Given the description of an element on the screen output the (x, y) to click on. 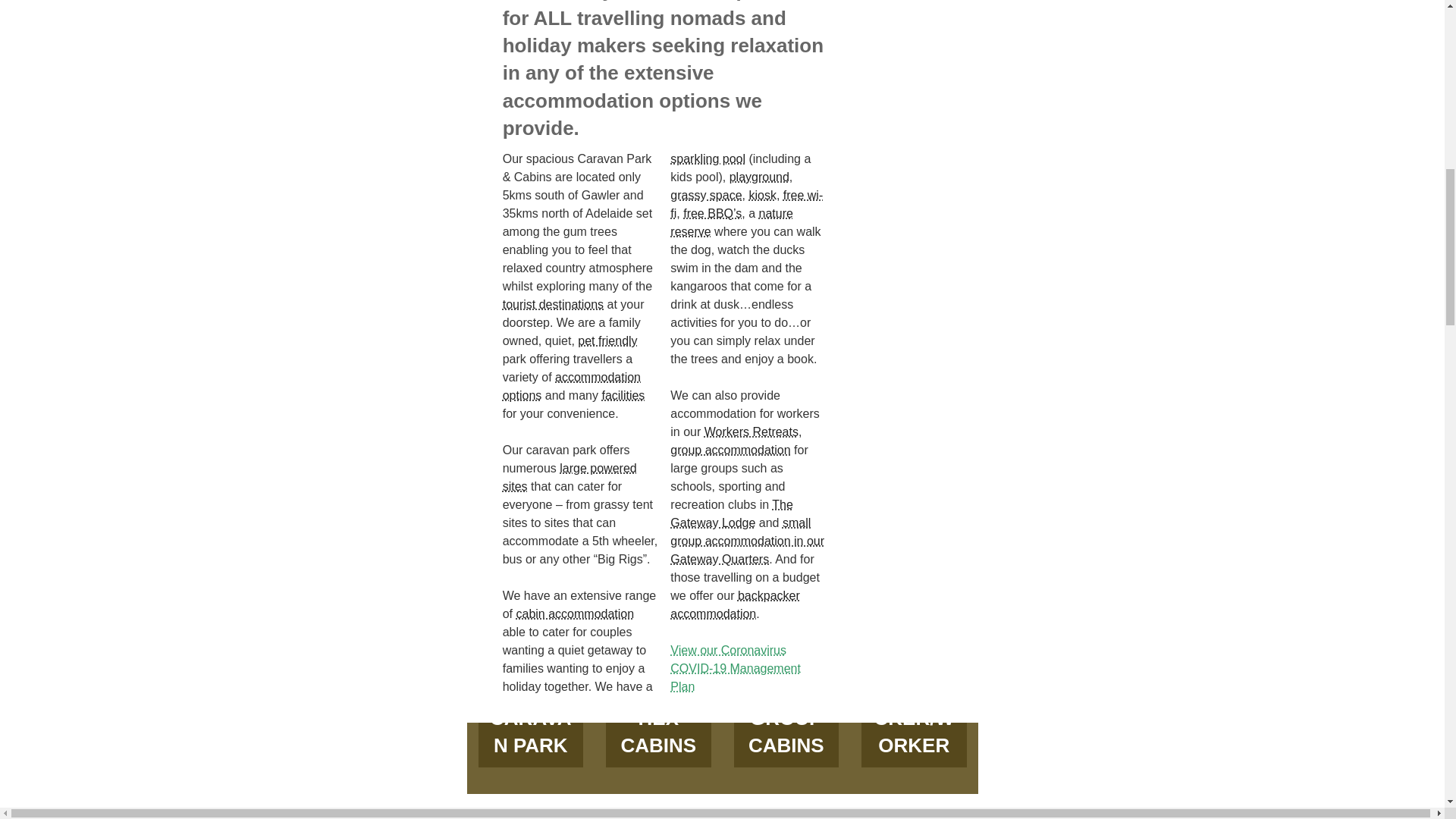
hex-hut-accommodation-gawler-gateway-tourist-park (657, 755)
powered-caravan-site-gawler-gateway-tourist-park3 (530, 755)
COVID-Clean-Business-certify (922, 1)
